Given the description of an element on the screen output the (x, y) to click on. 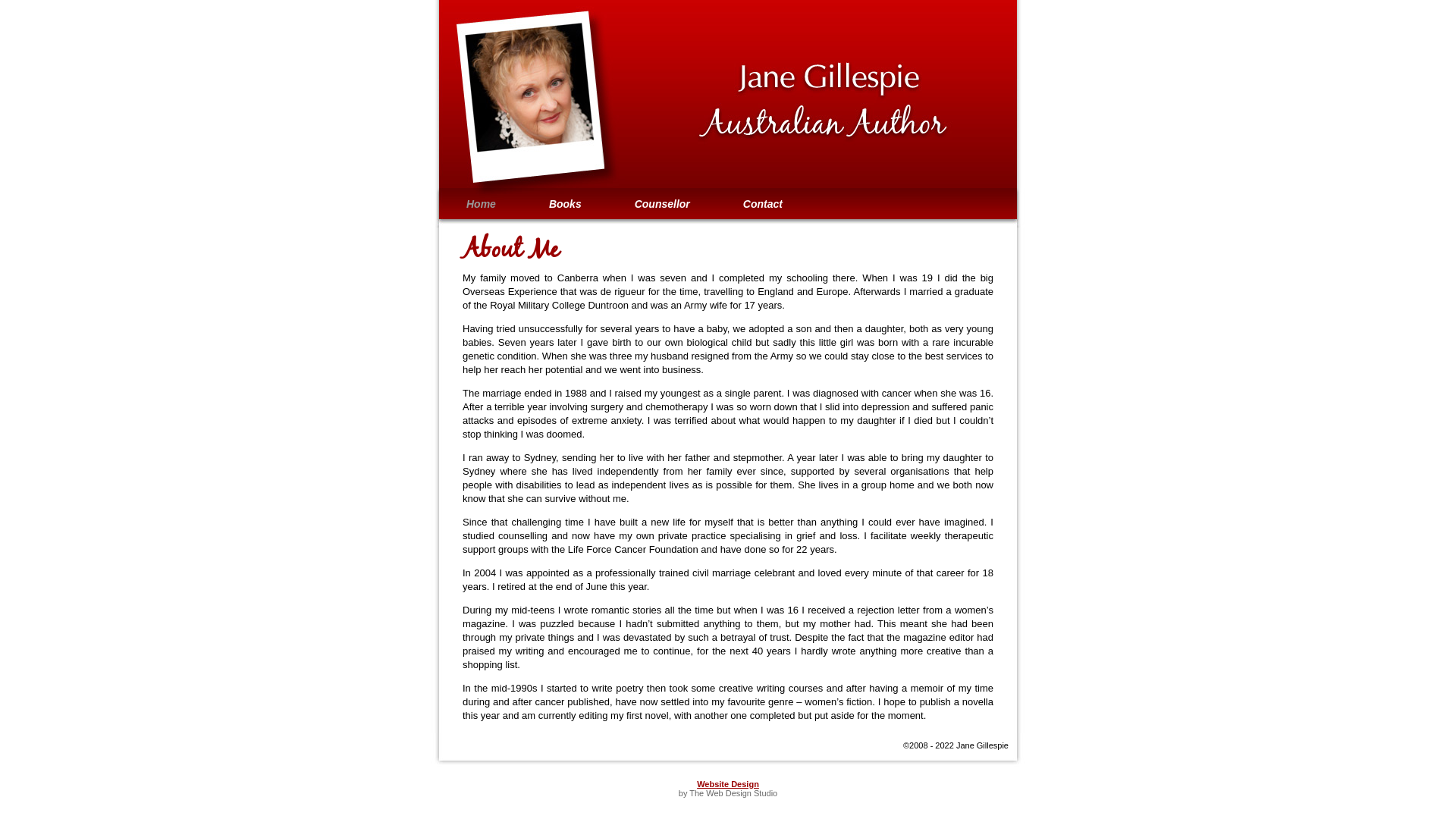
Counsellor Element type: text (662, 203)
Contact Element type: text (762, 203)
Home Element type: text (480, 203)
Website Design Element type: text (727, 783)
Books Element type: text (565, 203)
